Given the description of an element on the screen output the (x, y) to click on. 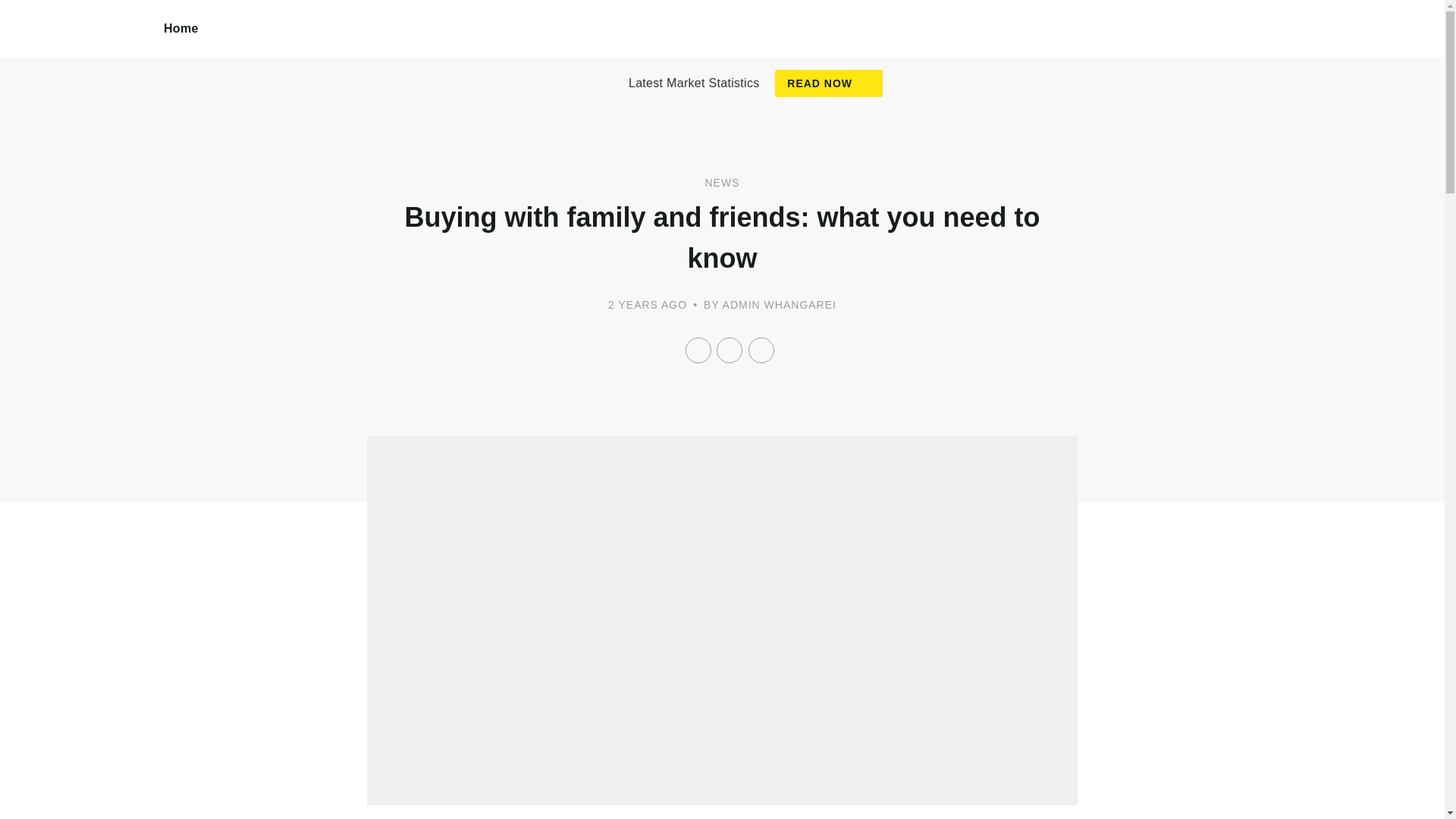
Home (180, 28)
Facebook (698, 350)
Ray White Whangarei (82, 45)
Email (761, 350)
READ NOW (828, 83)
Twitter (729, 350)
